Given the description of an element on the screen output the (x, y) to click on. 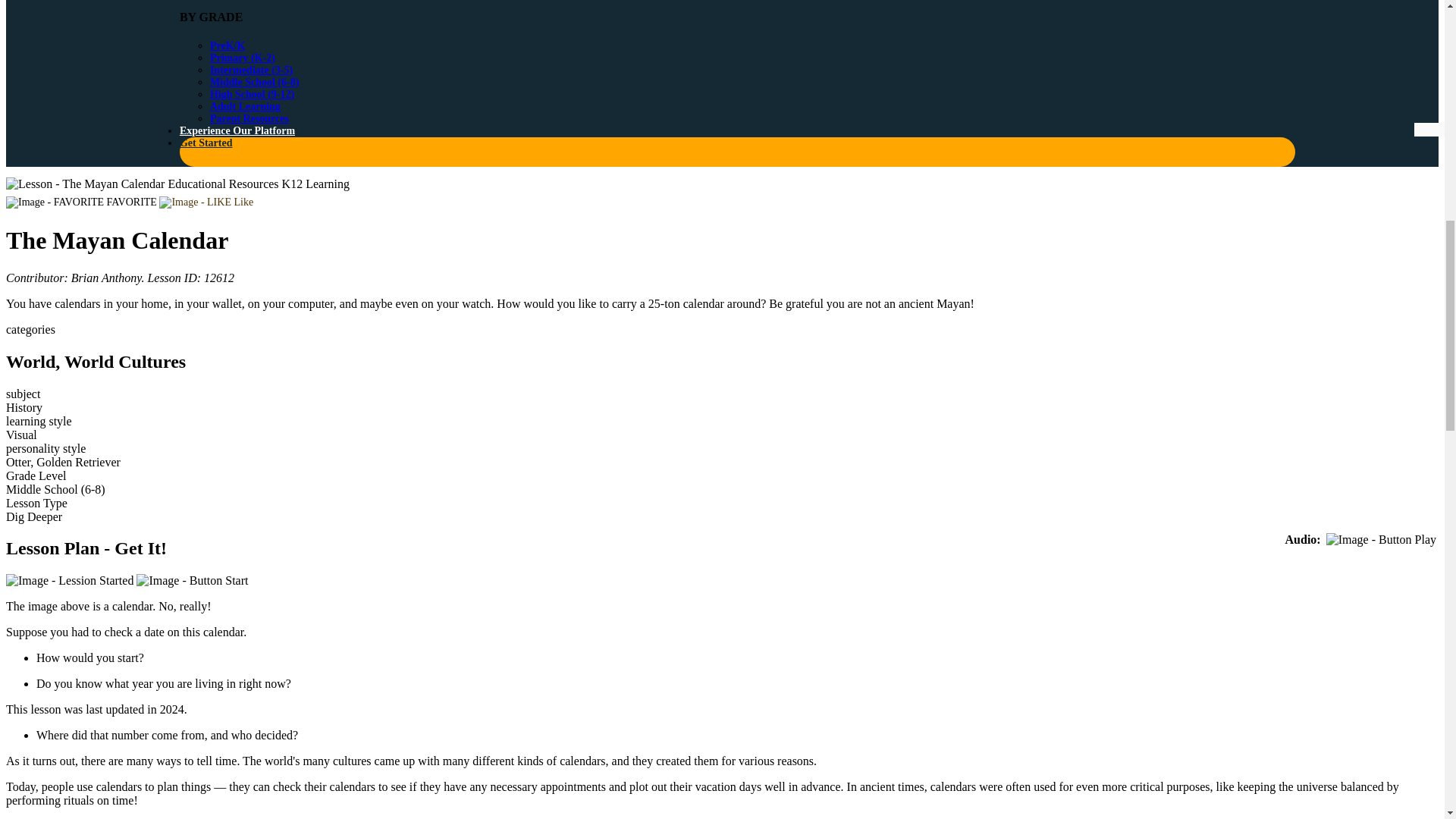
The Mayan Calendar Educational Resources K12 Learning (177, 183)
